Given the description of an element on the screen output the (x, y) to click on. 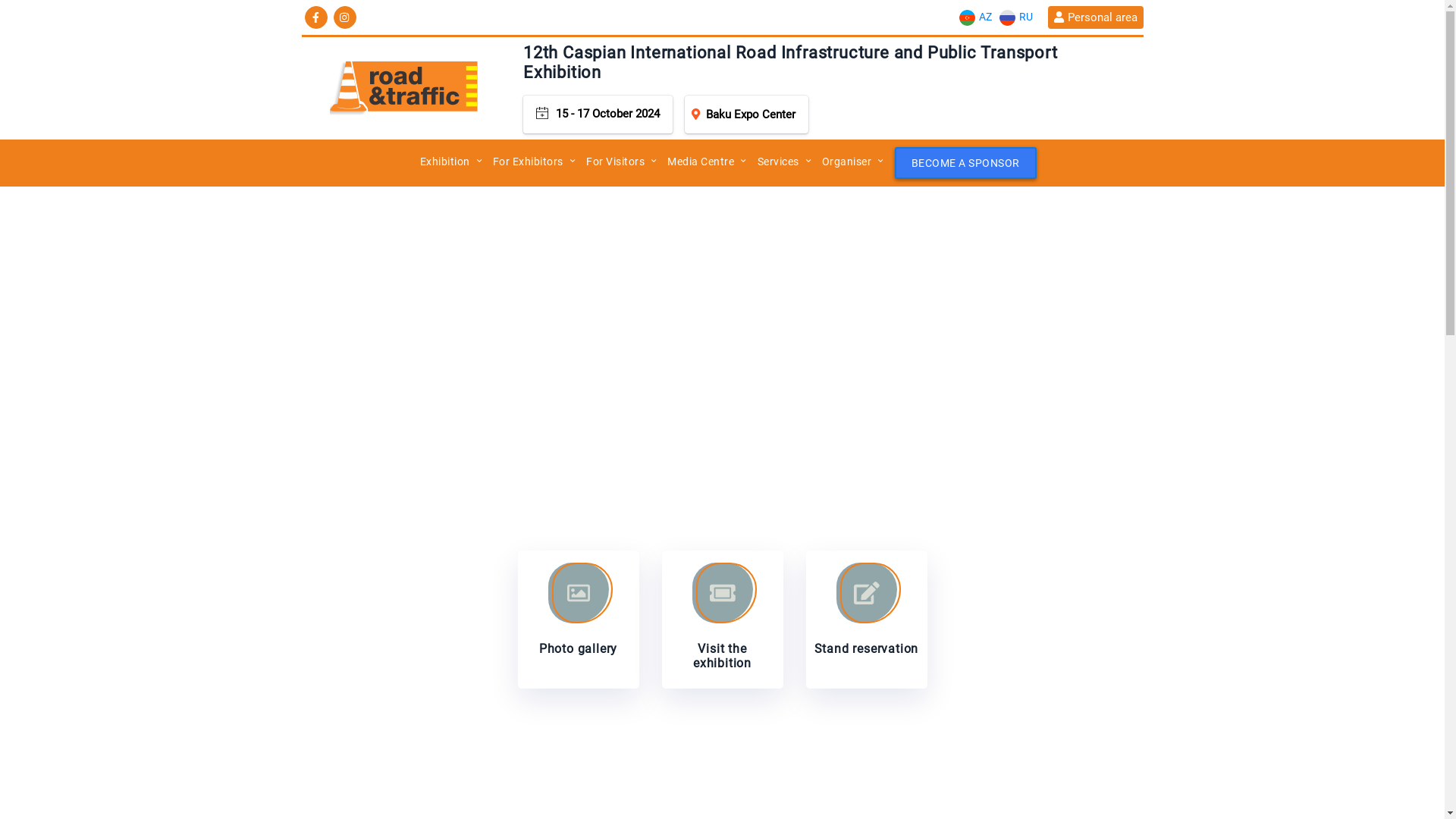
Media Centre Element type: text (700, 161)
Photo gallery Element type: text (577, 619)
Exhibition Element type: text (445, 161)
AZ Element type: text (974, 16)
Visit the exhibition Element type: text (721, 619)
Personal area Element type: text (1095, 17)
For Exhibitors Element type: text (527, 161)
BECOME A SPONSOR Element type: text (965, 162)
Baku Expo Center Element type: text (746, 114)
Organiser Element type: text (847, 161)
Services Element type: text (777, 161)
For Visitors Element type: text (615, 161)
RU Element type: text (1014, 16)
Stand reservation Element type: text (865, 619)
